Given the description of an element on the screen output the (x, y) to click on. 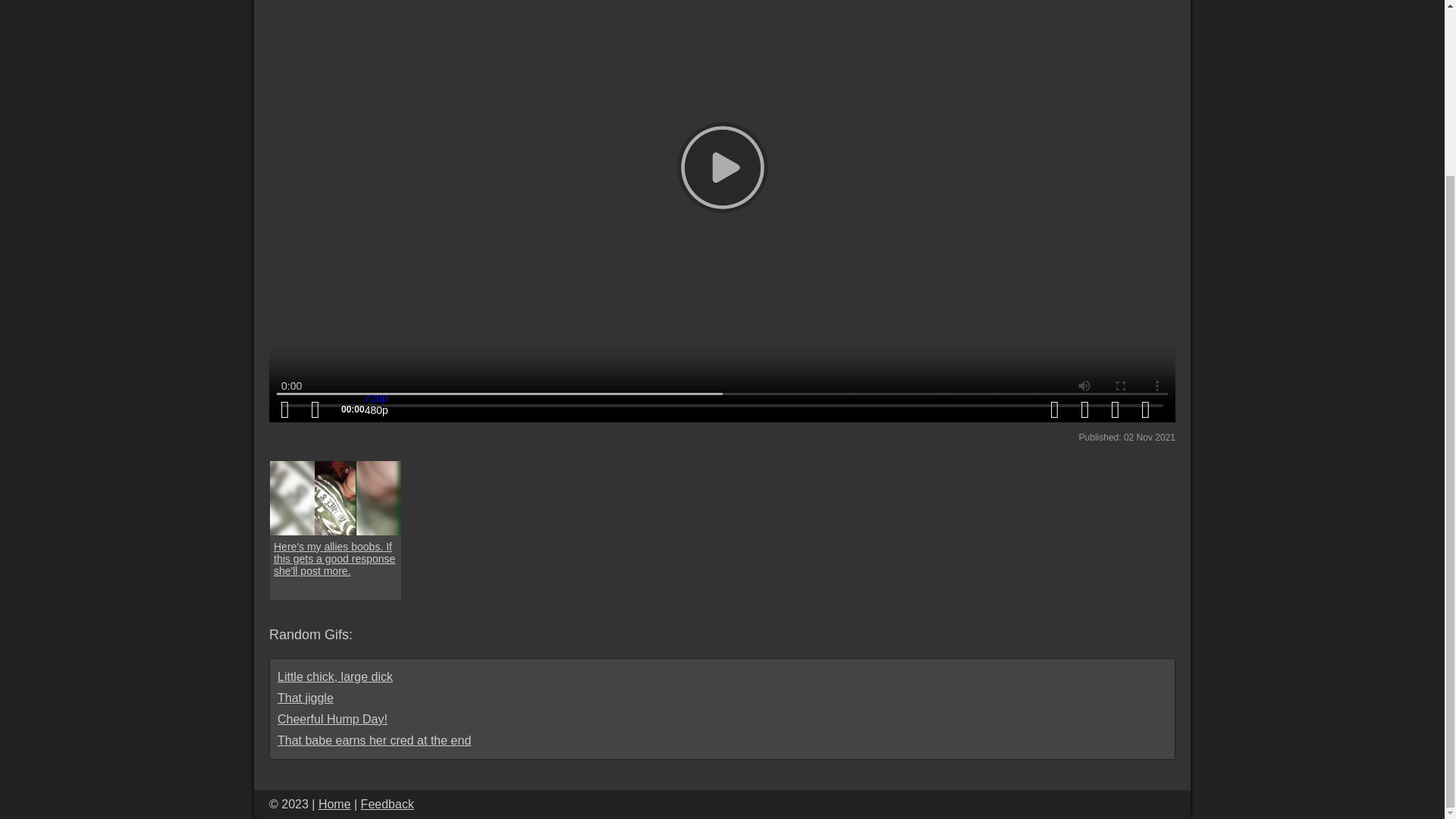
Cheerful Hump Day!  (332, 719)
Little chick, large dick (335, 676)
That babe earns her cred at the end (374, 740)
Feedback (387, 804)
Little chick, large dick (335, 676)
Home (334, 804)
That jiggle (305, 698)
That jiggle (305, 698)
That babe earns her cred at the end (374, 740)
Cheerful Hump Day! (332, 719)
